Given the description of an element on the screen output the (x, y) to click on. 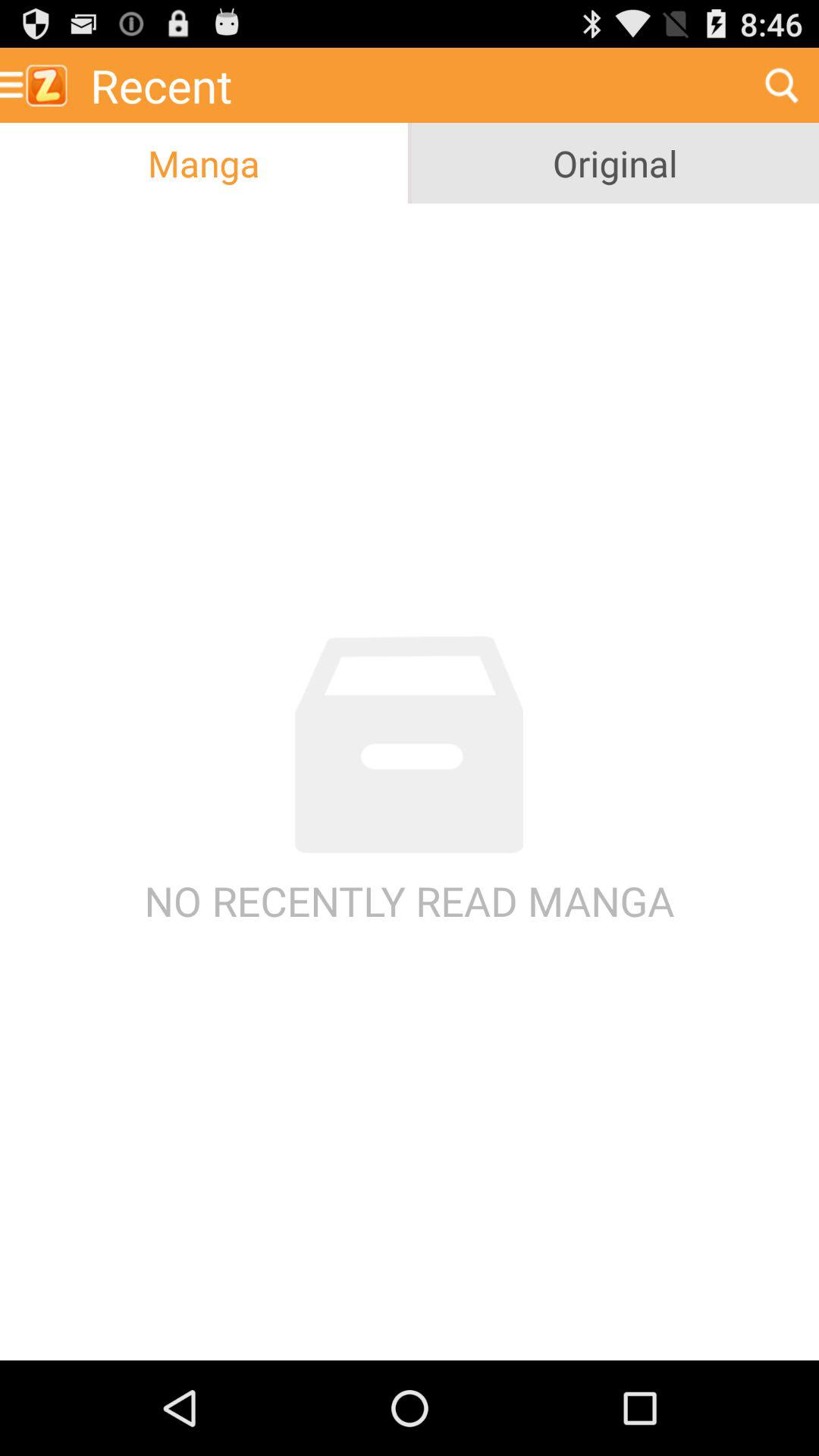
scroll until the original (615, 162)
